Given the description of an element on the screen output the (x, y) to click on. 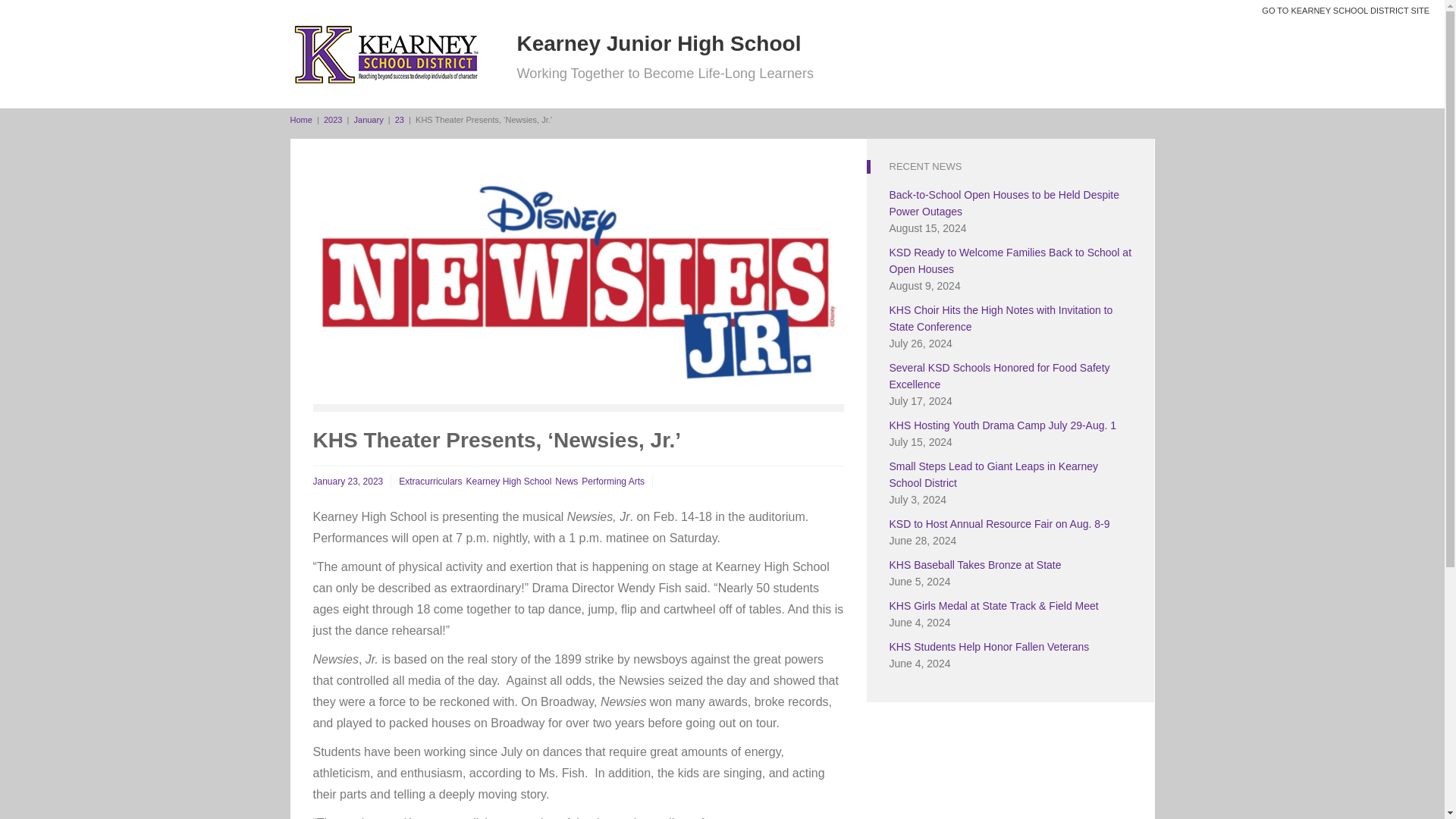
View all posts in News (566, 480)
Back-to-School Open Houses to be Held Despite Power Outages (1003, 203)
Several KSD Schools Honored for Food Safety Excellence (998, 375)
KHS Baseball Takes Bronze at State (974, 564)
KHS Hosting Youth Drama Camp July 29-Aug. 1 (1002, 425)
2023 (332, 119)
Kearney Junior High School (659, 43)
23 (399, 119)
View all posts in Extracurriculars (429, 480)
